Given the description of an element on the screen output the (x, y) to click on. 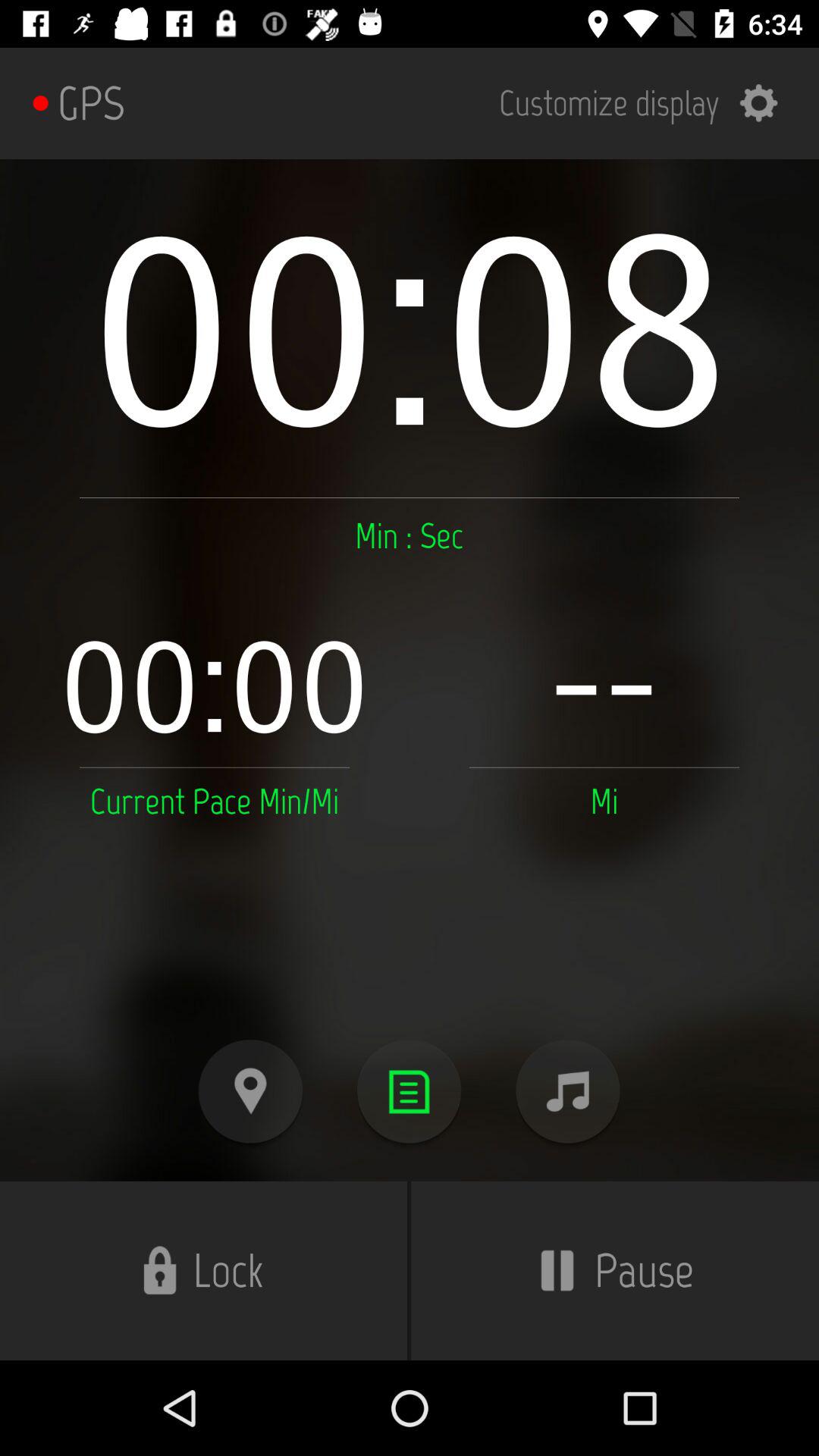
pin this location (250, 1091)
